Given the description of an element on the screen output the (x, y) to click on. 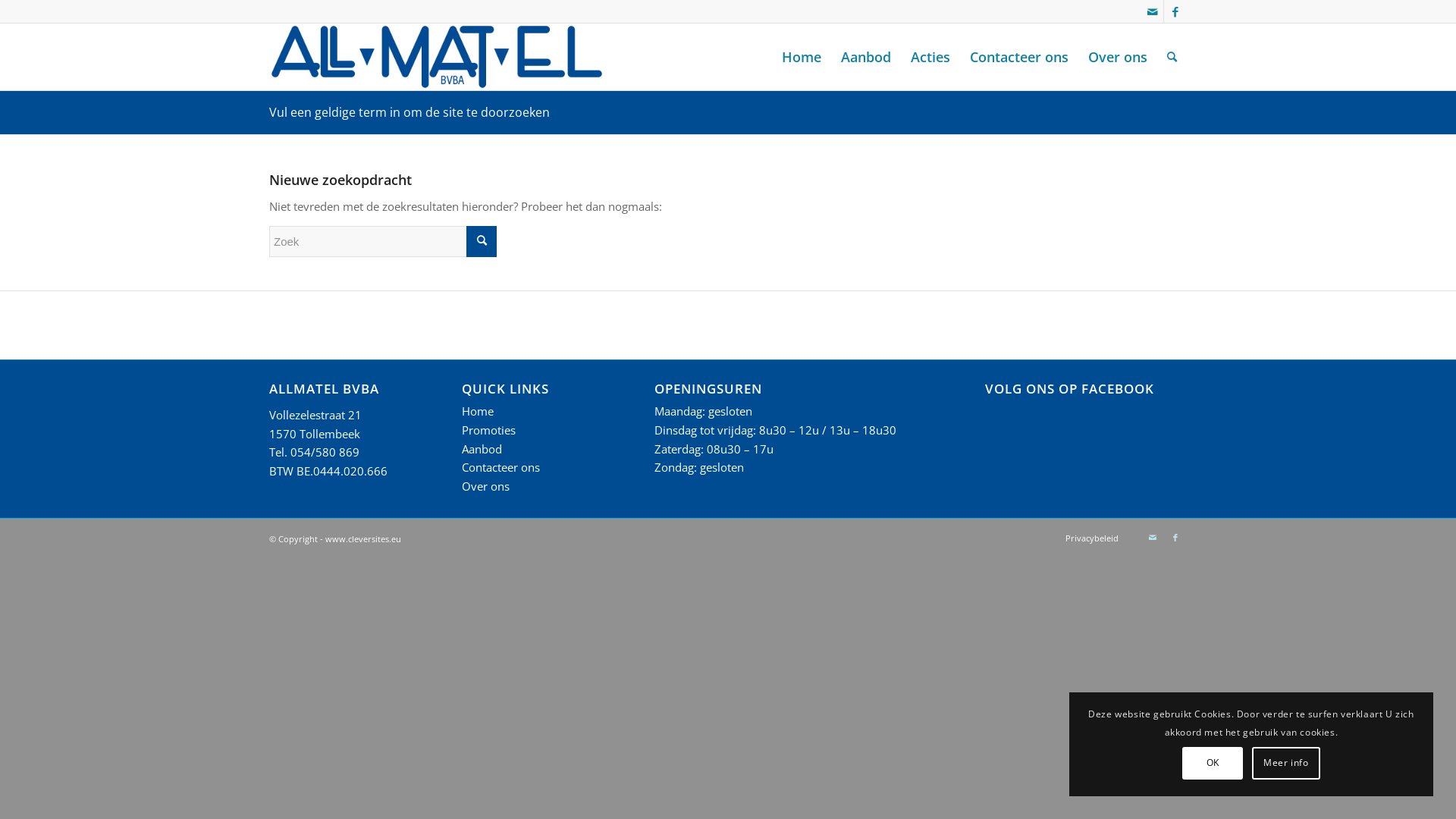
Over ons Element type: text (1117, 56)
Contacteer ons Element type: text (1019, 56)
Home Element type: text (477, 410)
logo_allmatel Element type: hover (436, 56)
Facebook Element type: hover (1175, 11)
Aanbod Element type: text (865, 56)
Over ons Element type: text (485, 485)
Home Element type: text (801, 56)
www.cleversites.eu Element type: text (363, 538)
Promoties Element type: text (488, 429)
Acties Element type: text (930, 56)
Facebook Element type: hover (1175, 537)
Meer info Element type: text (1286, 762)
Mail Element type: hover (1152, 537)
Contacteer ons Element type: text (500, 466)
Aanbod Element type: text (481, 448)
OK Element type: text (1212, 762)
Privacybeleid Element type: text (1091, 537)
Mail Element type: hover (1152, 11)
